Given the description of an element on the screen output the (x, y) to click on. 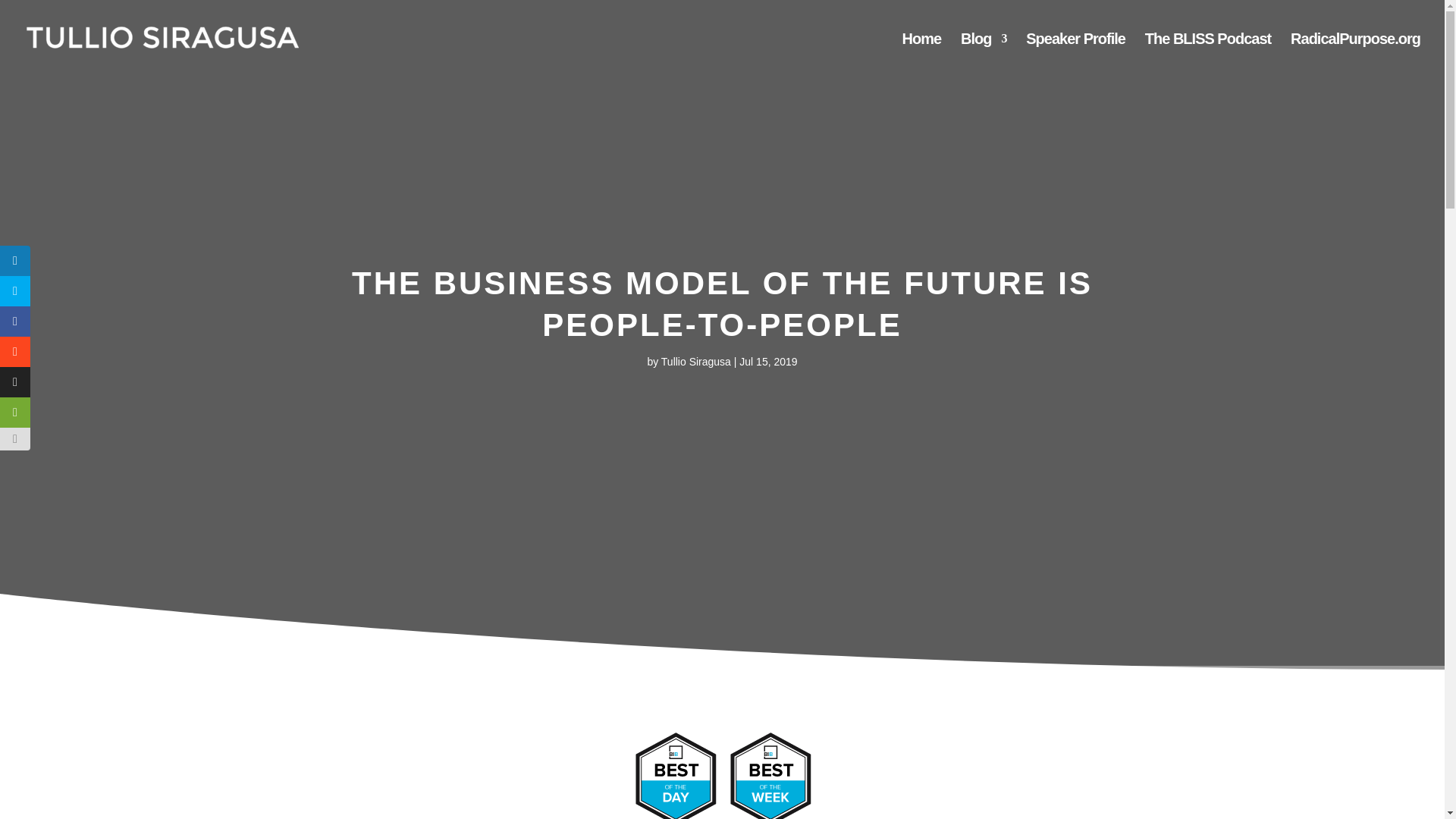
Tullio Siragusa (695, 361)
Business Innovation Brief Best Article (721, 775)
The BLISS Podcast (1207, 54)
Blog (983, 54)
Speaker Profile (1075, 54)
Home (920, 54)
Posts by Tullio Siragusa (695, 361)
RadicalPurpose.org (1355, 54)
